Given the description of an element on the screen output the (x, y) to click on. 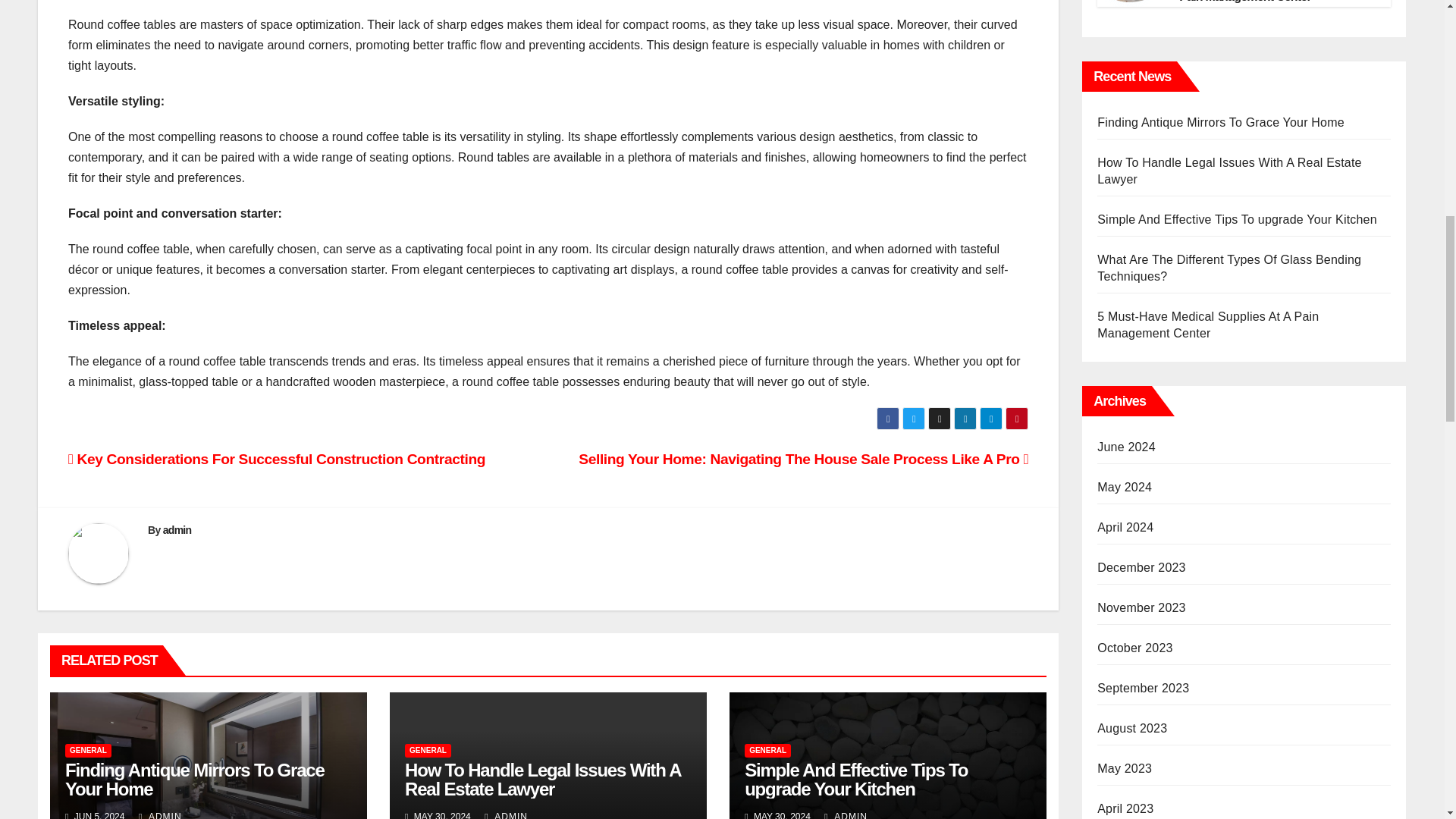
Key Considerations For Successful Construction Contracting (276, 458)
GENERAL (427, 750)
GENERAL (88, 750)
Finding Antique Mirrors To Grace Your Home (194, 779)
GENERAL (767, 750)
ADMIN (160, 815)
ADMIN (505, 815)
admin (177, 530)
How To Handle Legal Issues With A Real Estate Lawyer (541, 779)
Permalink to: Finding Antique Mirrors To Grace Your Home (194, 779)
